Given the description of an element on the screen output the (x, y) to click on. 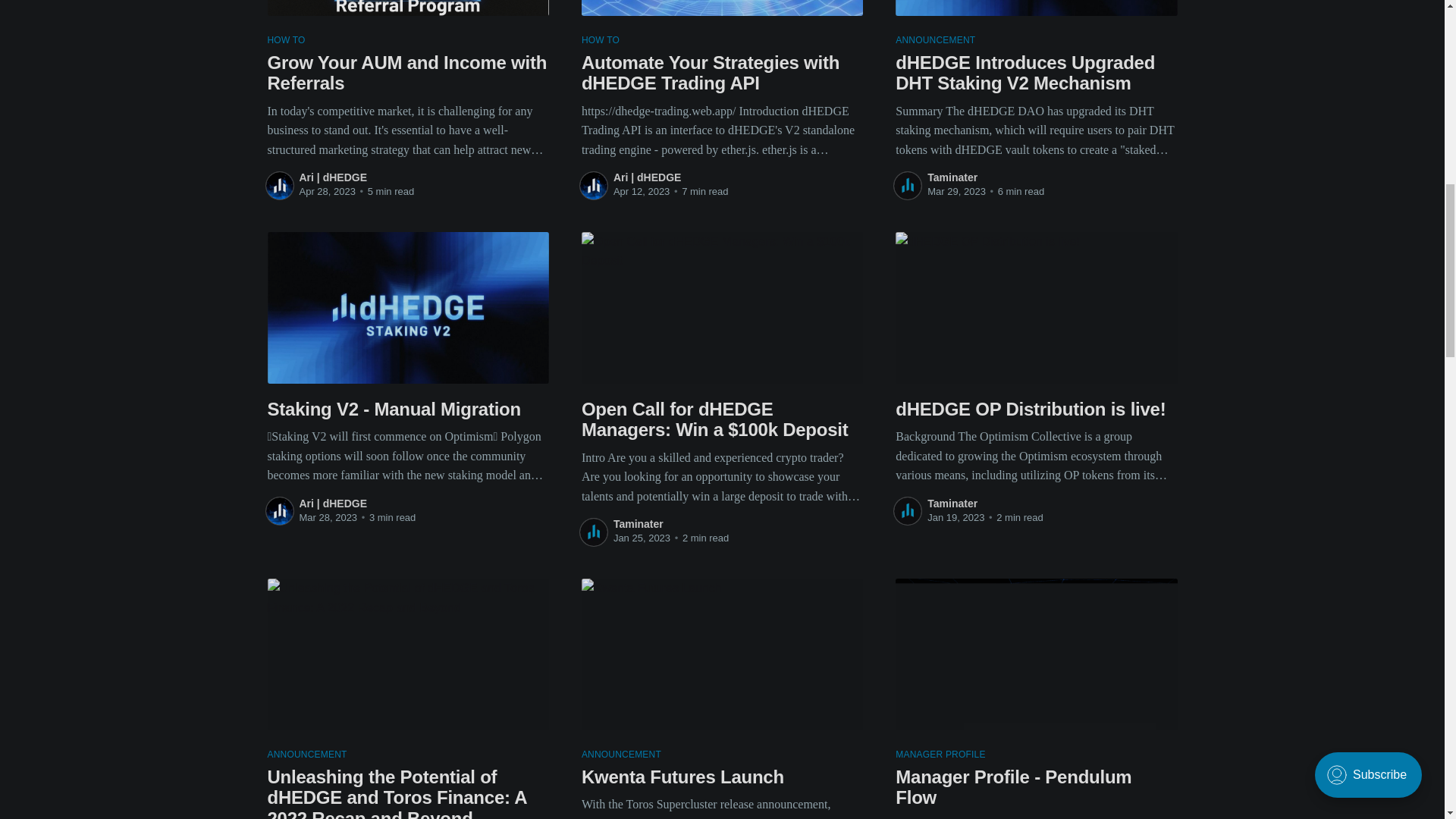
Taminater (951, 503)
Taminater (951, 177)
Taminater (637, 523)
